Given the description of an element on the screen output the (x, y) to click on. 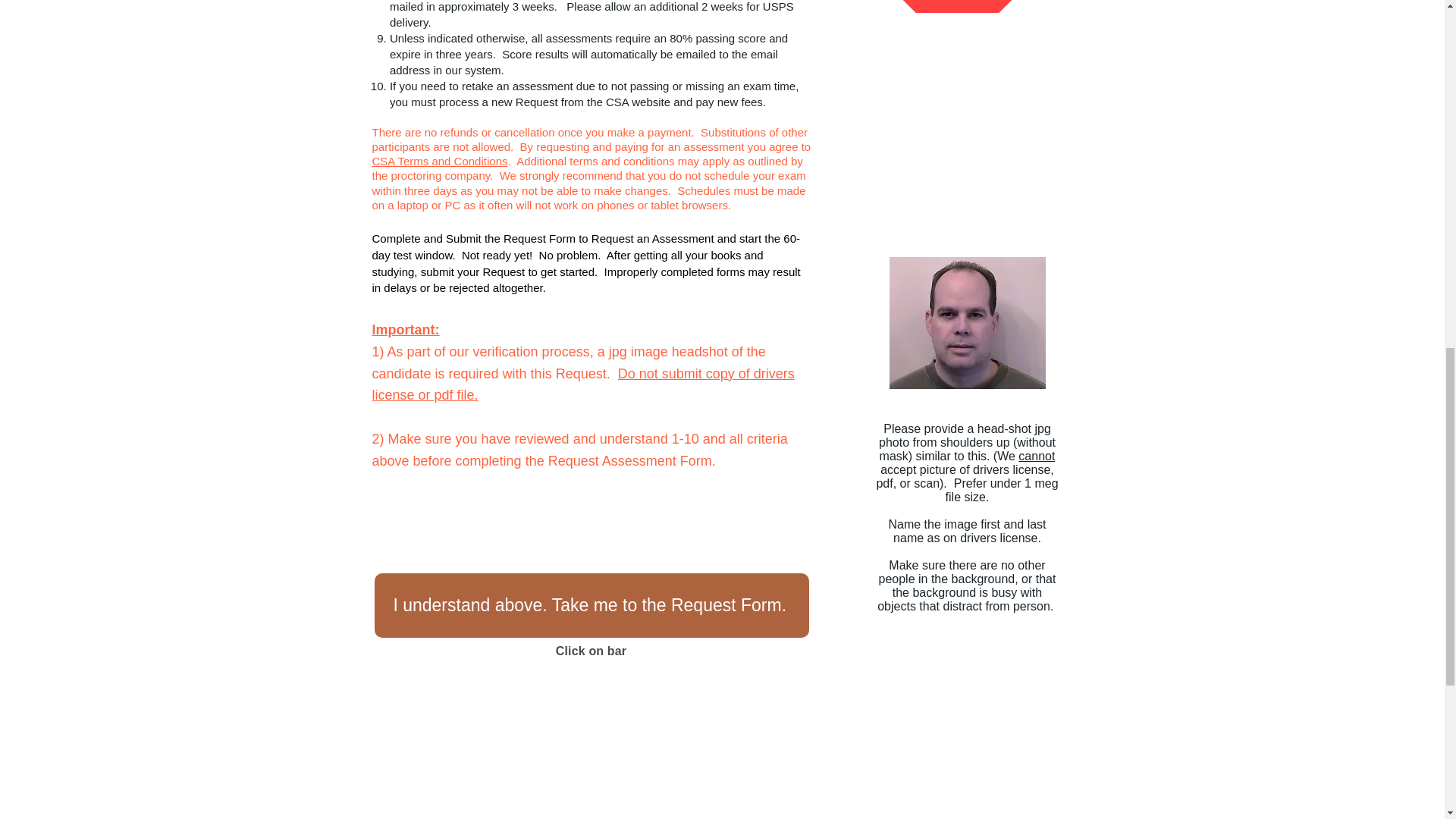
I understand above. Take me to the Request Form. (591, 605)
CSA Terms and Conditions (438, 160)
